Given the description of an element on the screen output the (x, y) to click on. 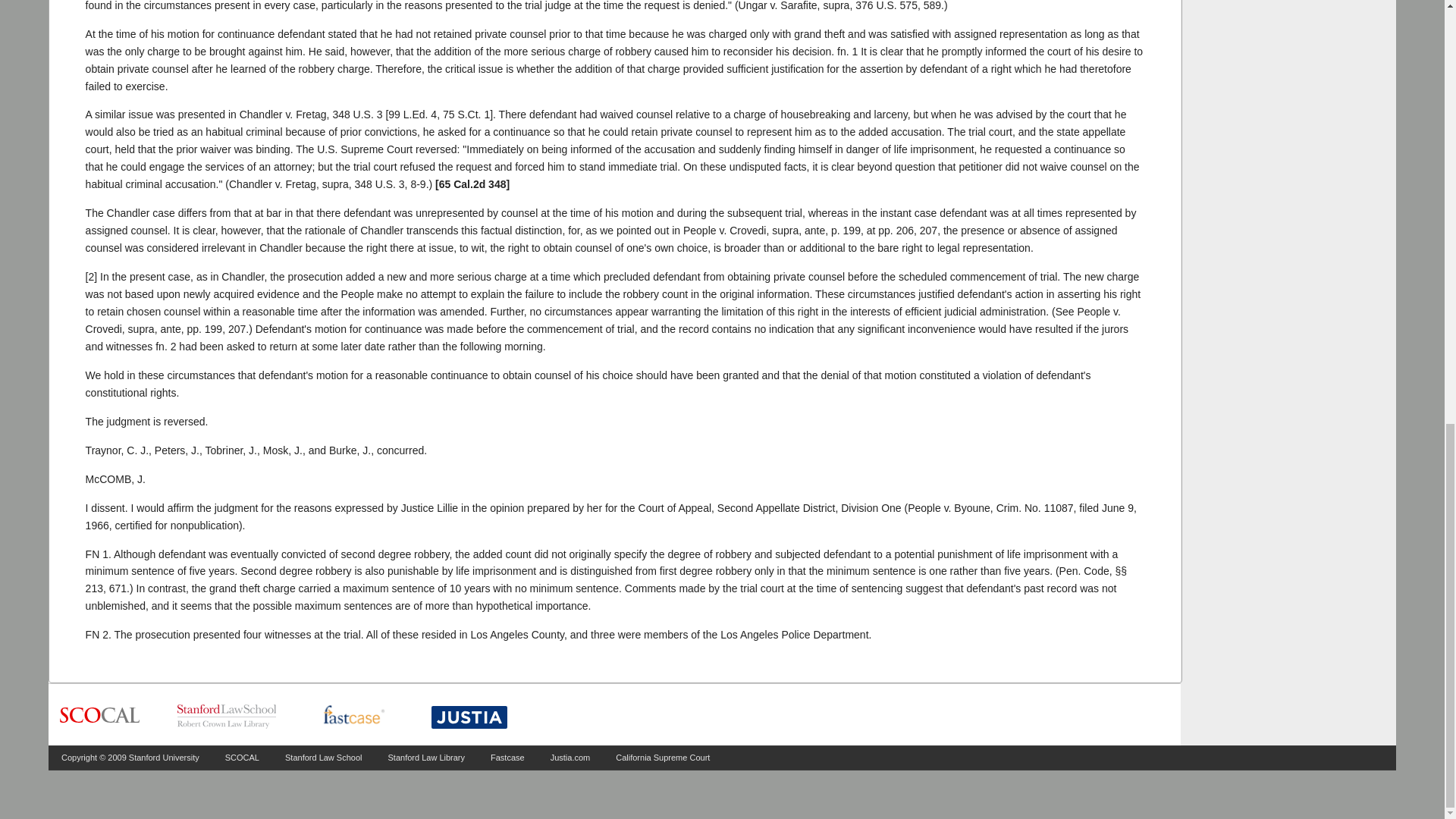
Supreme Court of California (99, 715)
California Supreme Court (662, 757)
348 U.S. 3, 8 (384, 184)
376 U.S. 575, 589 (898, 5)
Stanford Law Library (426, 757)
348 U.S. 3 (356, 114)
fn. 1 (847, 51)
Stanford Law School - Robert Crown Law Library (226, 715)
Fastcase (507, 757)
SCOCAL (242, 757)
